Given the description of an element on the screen output the (x, y) to click on. 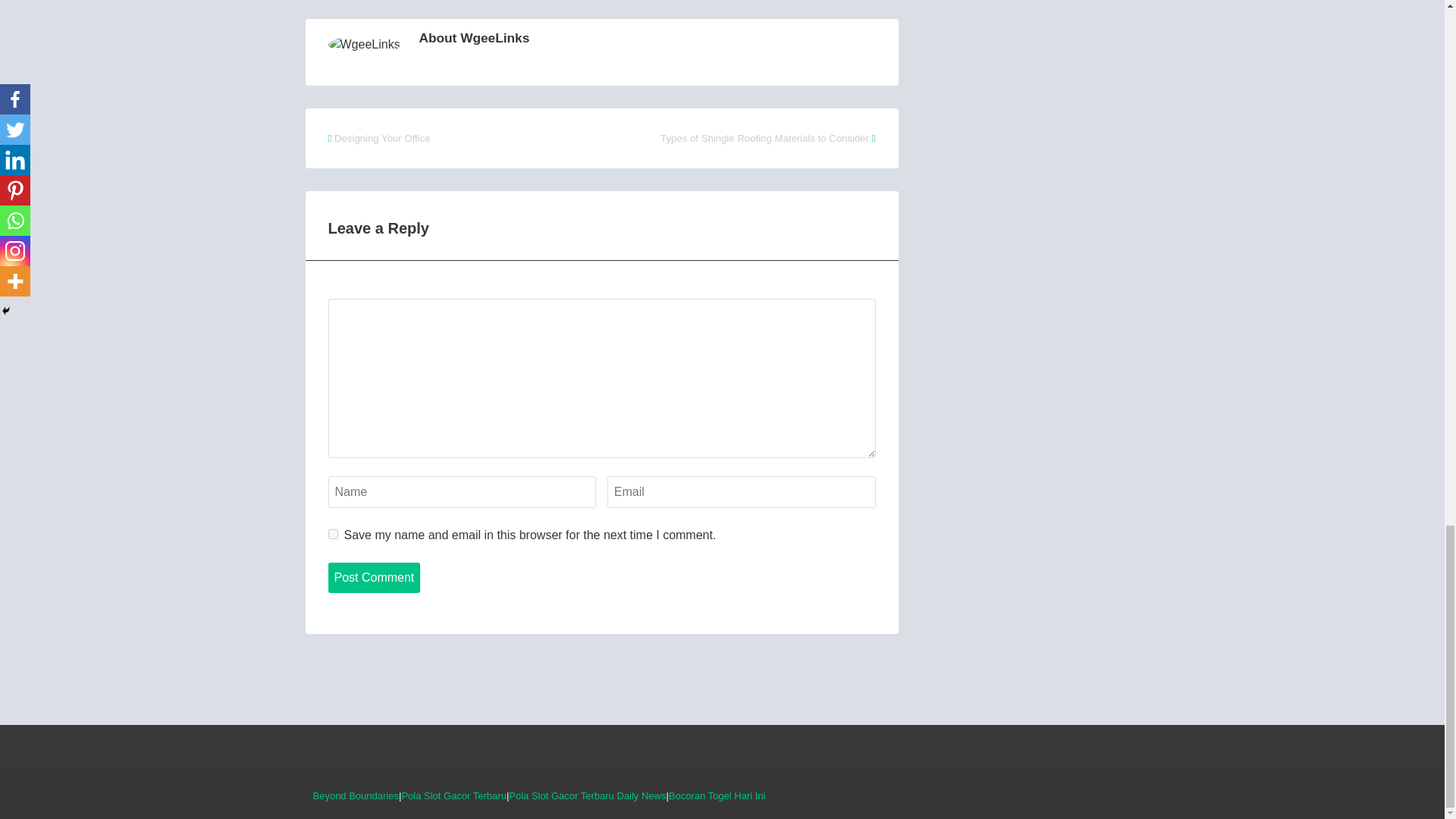
Designing Your Office (382, 138)
Post Comment (373, 577)
Post Comment (373, 577)
Types of Shingle Roofing Materials to Consider (765, 138)
yes (332, 533)
